Given the description of an element on the screen output the (x, y) to click on. 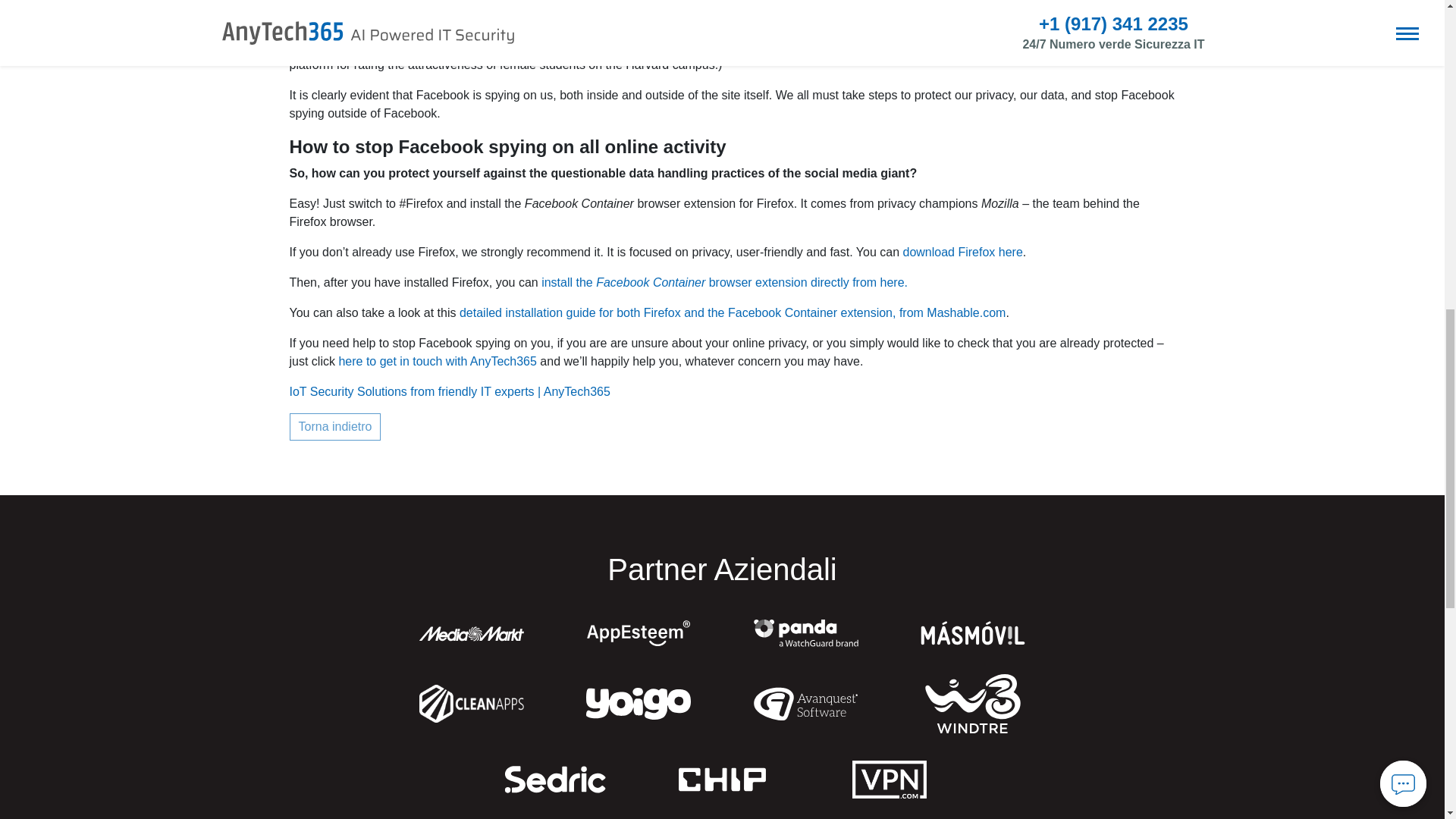
download Firefox here (962, 251)
Torna indietro (335, 426)
here to get in touch with AnyTech365 (437, 360)
